Given the description of an element on the screen output the (x, y) to click on. 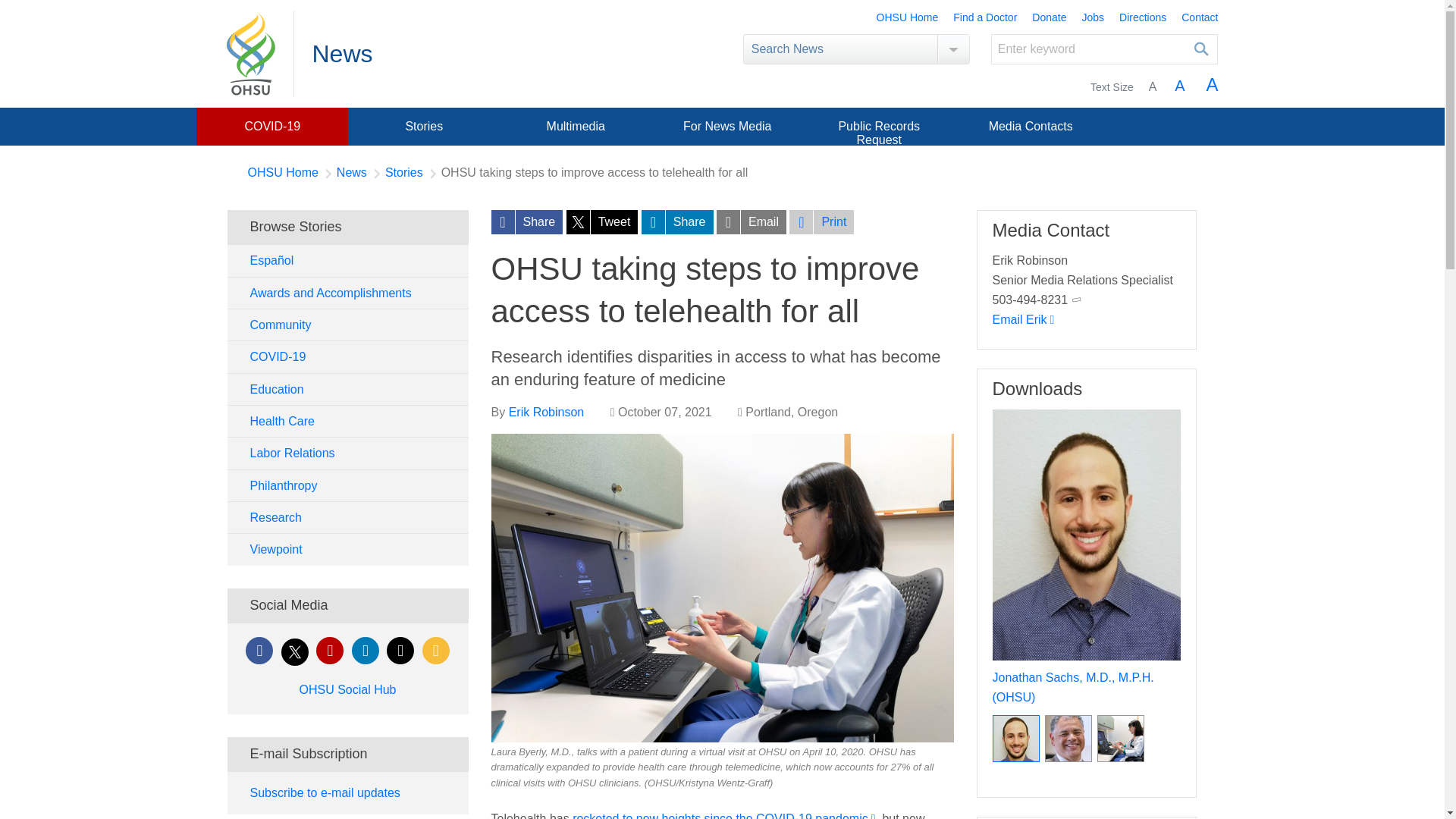
X (294, 651)
RSS (435, 650)
Multimedia (574, 126)
COVID-19 (271, 126)
Donate (1048, 17)
Jobs (1092, 17)
OHSU Home (282, 172)
YouTube (329, 650)
Stories (423, 126)
Media Contacts (1030, 126)
